Given the description of an element on the screen output the (x, y) to click on. 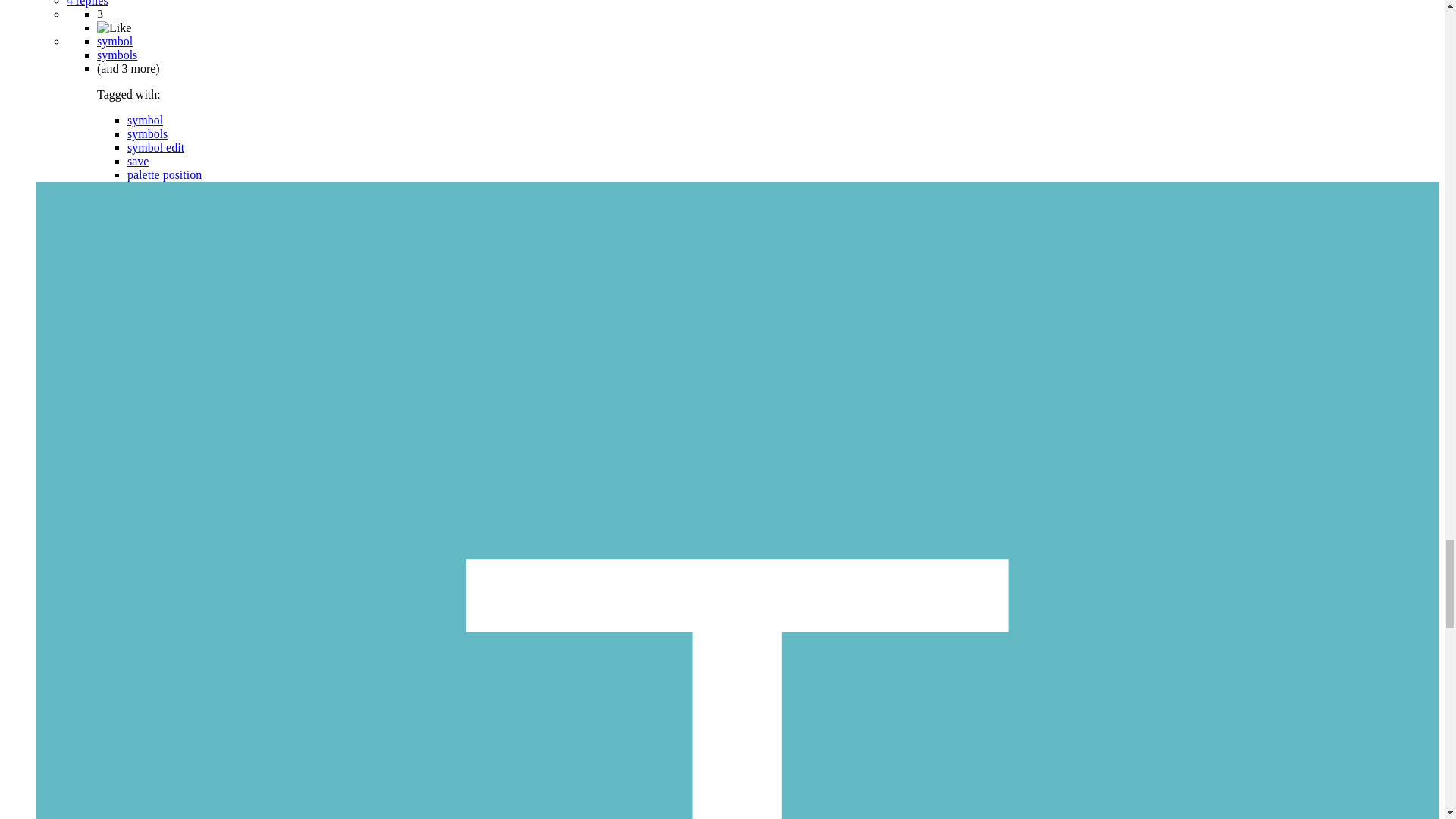
Find other content tagged with 'symbol edit' (156, 146)
Like (114, 27)
Find other content tagged with 'symbol' (145, 119)
Find other content tagged with 'symbols' (147, 133)
Find other content tagged with 'palette position' (165, 174)
Find other content tagged with 'save' (138, 160)
Find other content tagged with 'symbol' (114, 41)
Find other content tagged with 'symbols' (116, 54)
